Given the description of an element on the screen output the (x, y) to click on. 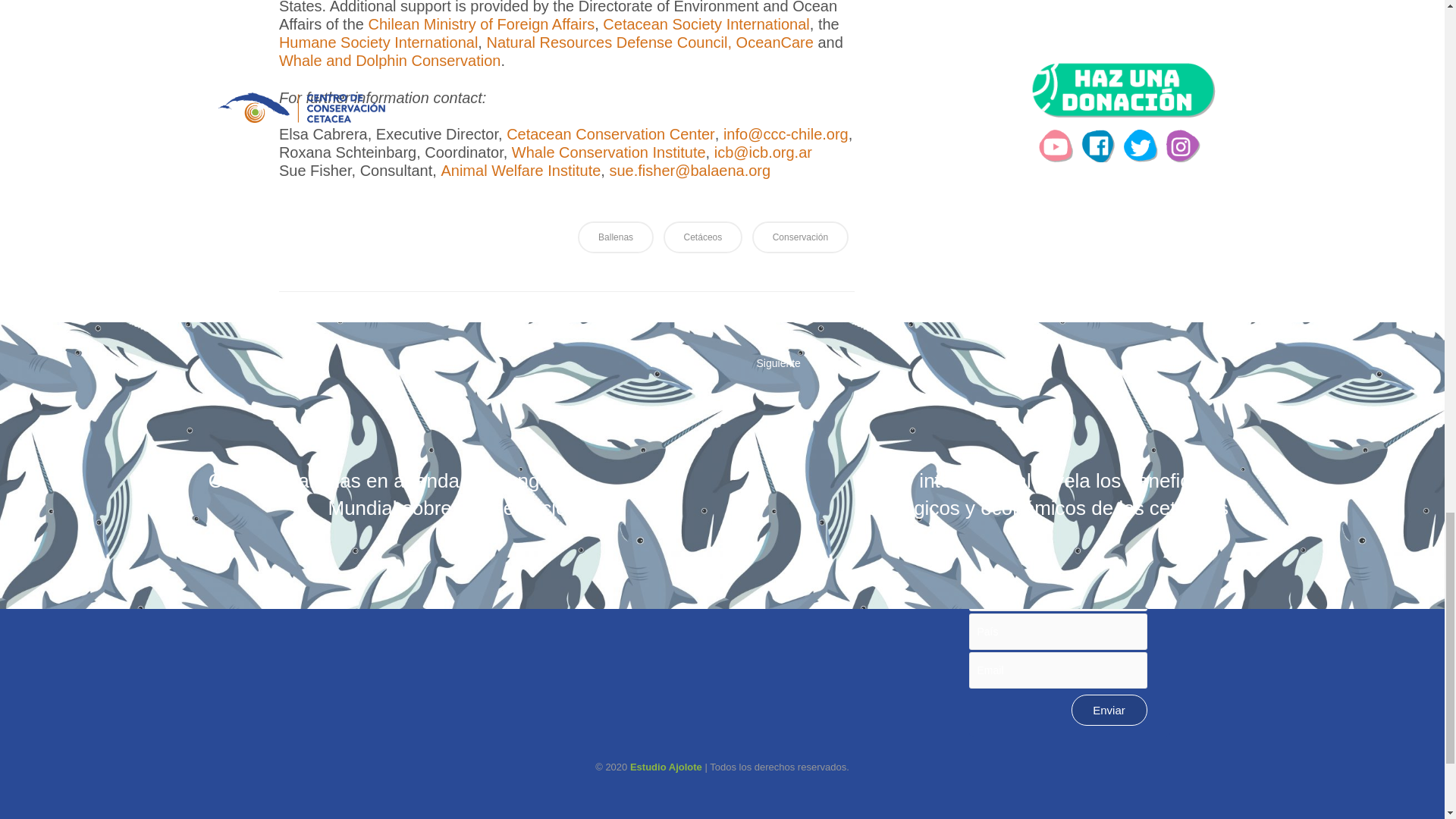
Cetacean Conservation Center (610, 134)
Chilean Ministry of Foreign Affairs (481, 24)
OceanCare  (777, 42)
Cetacean Society International (705, 24)
Ballenas (615, 237)
Whale Conservation Institute (609, 152)
Humane Society International (378, 42)
Animal Welfare Institute (520, 170)
Whale and Dolphin Conservation (389, 60)
Natural Resources Defense Council, (609, 42)
